Given the description of an element on the screen output the (x, y) to click on. 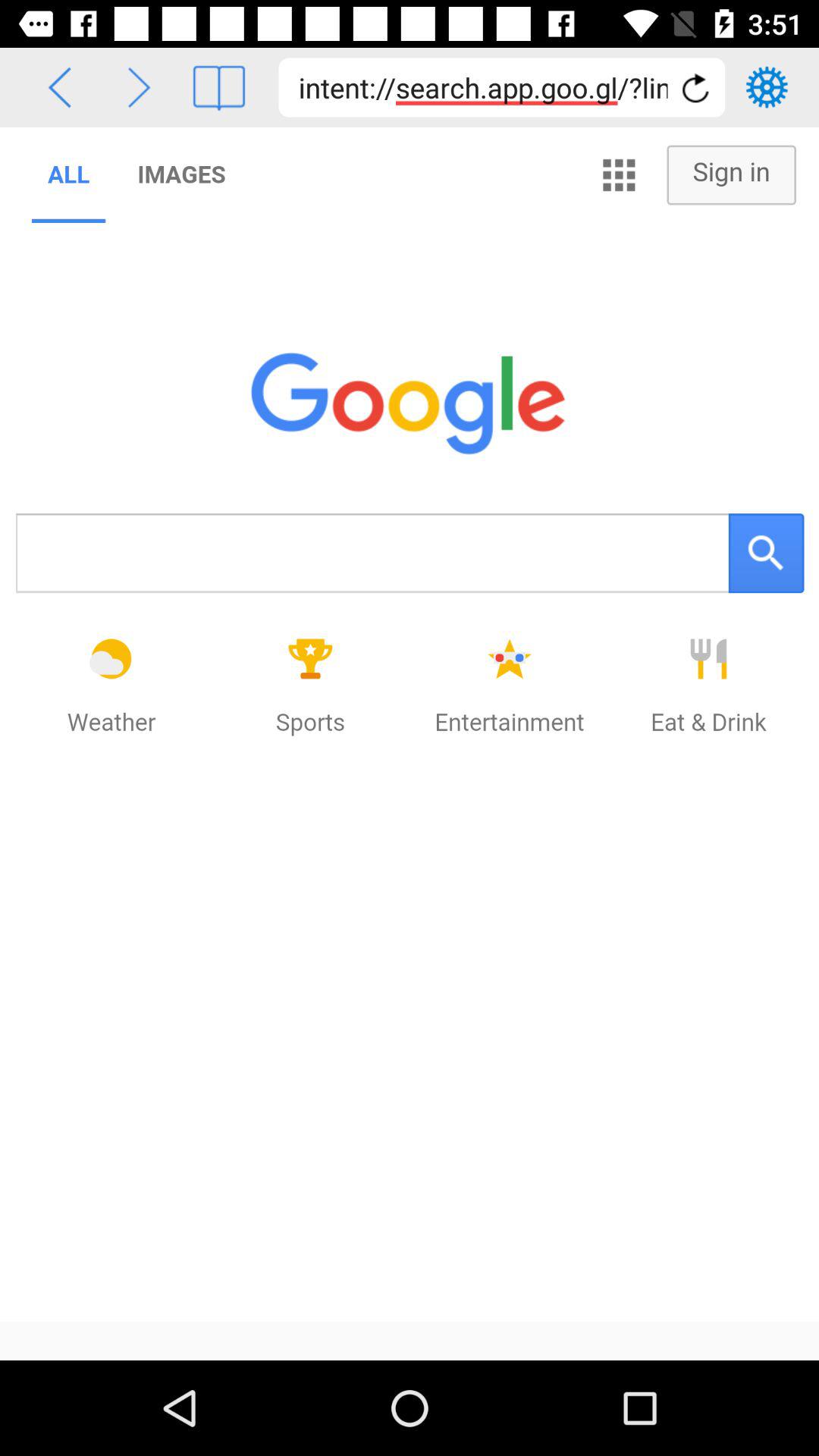
previous button (59, 87)
